Given the description of an element on the screen output the (x, y) to click on. 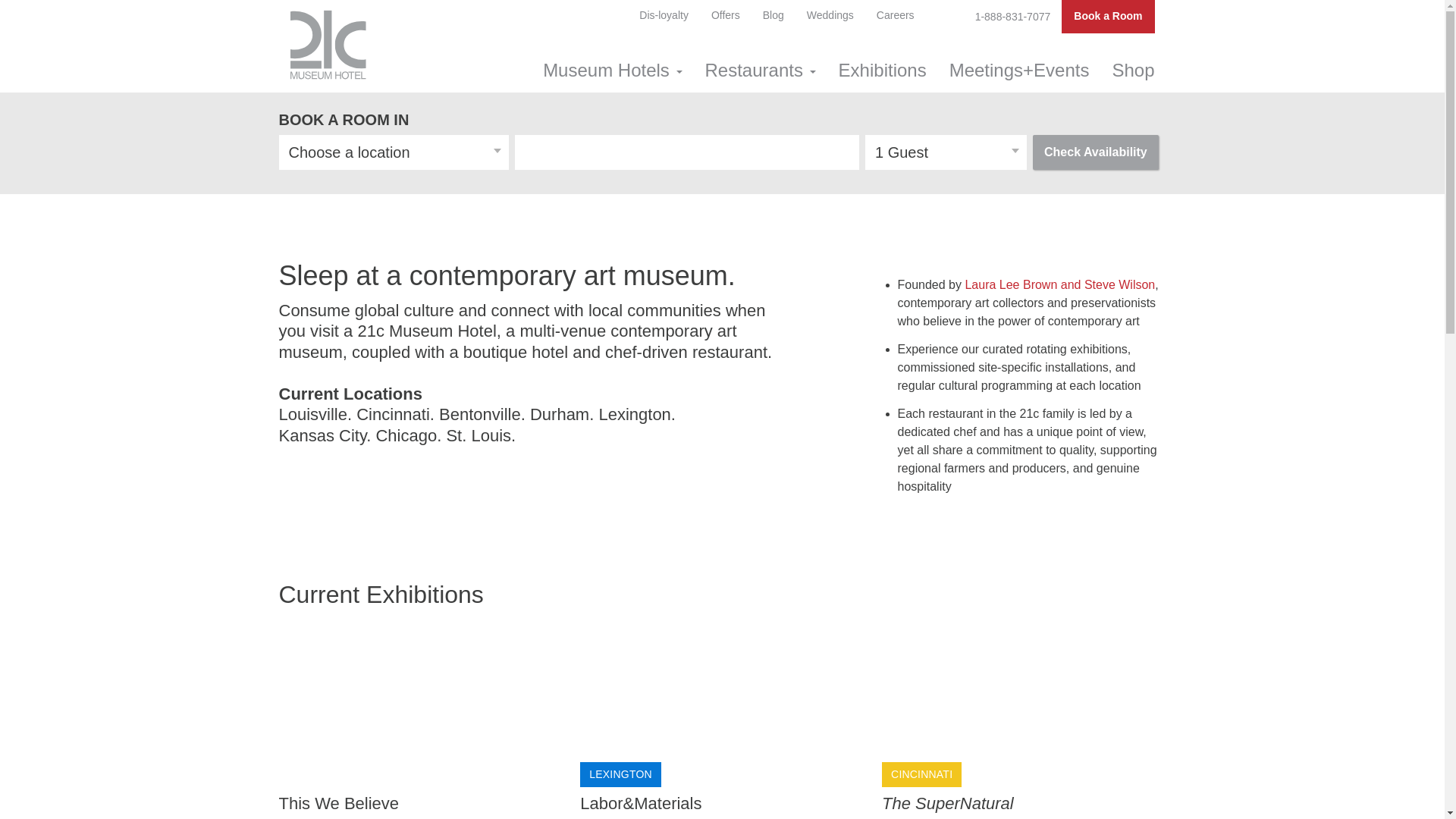
Exhibitions Element type: text (882, 70)
Cincinnati Element type: text (392, 413)
1 Guest Element type: text (945, 151)
Book a Room Element type: text (1107, 16)
Careers Element type: text (895, 15)
Bentonville Element type: text (479, 413)
Shop Element type: text (1132, 70)
Laura Lee Brown and Steve Wilson Element type: text (1059, 284)
Check Availability Element type: text (1095, 151)
Museum Hotels Element type: text (612, 70)
Chicago Element type: text (405, 435)
Durham Element type: text (559, 413)
St. Louis. Element type: text (480, 435)
Meetings+Events Element type: text (1019, 70)
Lexington Element type: text (634, 413)
Current Exhibitions Element type: text (381, 594)
Weddings Element type: text (830, 15)
This We Believe Element type: text (420, 716)
1-888-831-7077 Element type: text (1012, 16)
Kansas City Element type: text (323, 435)
Choose a location Element type: text (393, 151)
Offers Element type: text (725, 15)
Louisville Element type: text (313, 413)
Blog Element type: text (773, 15)
Restaurants Element type: text (760, 70)
Dis-loyalty Element type: text (663, 15)
